Given the description of an element on the screen output the (x, y) to click on. 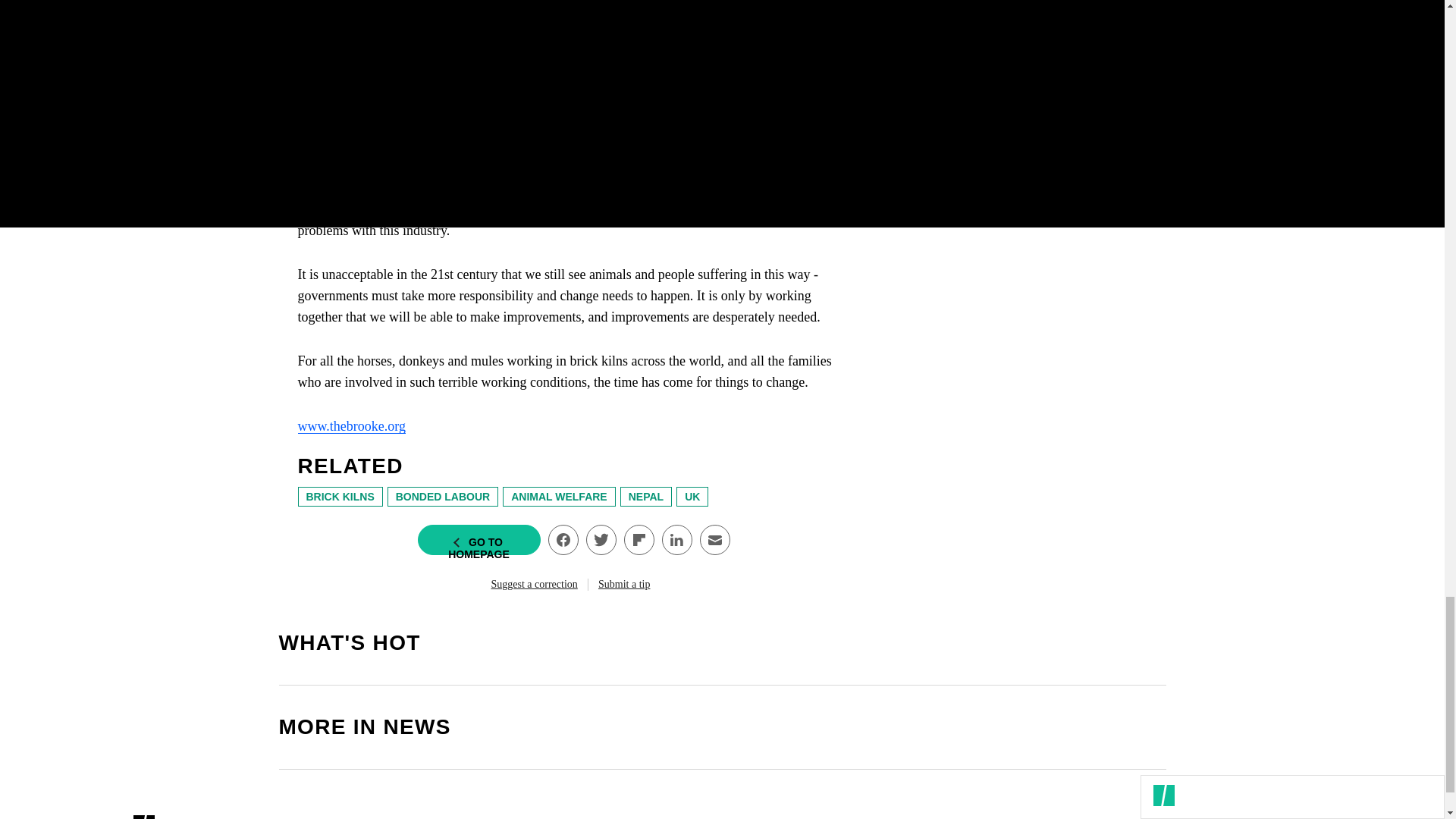
SIGN UP (1098, 106)
